Given the description of an element on the screen output the (x, y) to click on. 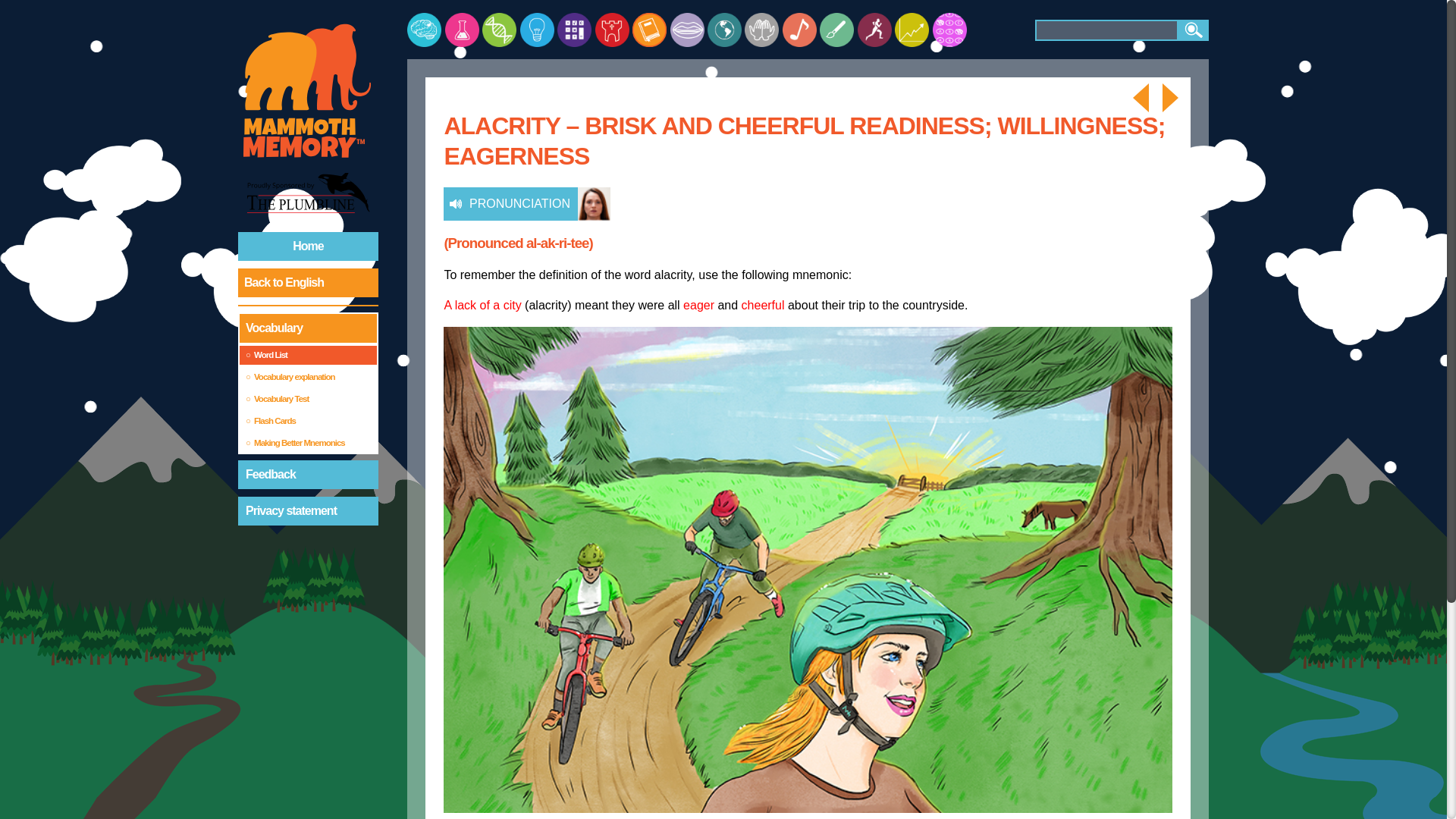
Maths (574, 29)
Biology (498, 29)
English (648, 29)
Feedback (308, 474)
Vocabulary Test (308, 399)
Sports Science (874, 29)
Memory (424, 29)
Word List (308, 354)
Languages (686, 29)
Privacy statement (308, 510)
Making Better Mnemonics (308, 443)
Geography (724, 29)
Home (308, 246)
Physics (536, 29)
Business Studies (911, 29)
